Given the description of an element on the screen output the (x, y) to click on. 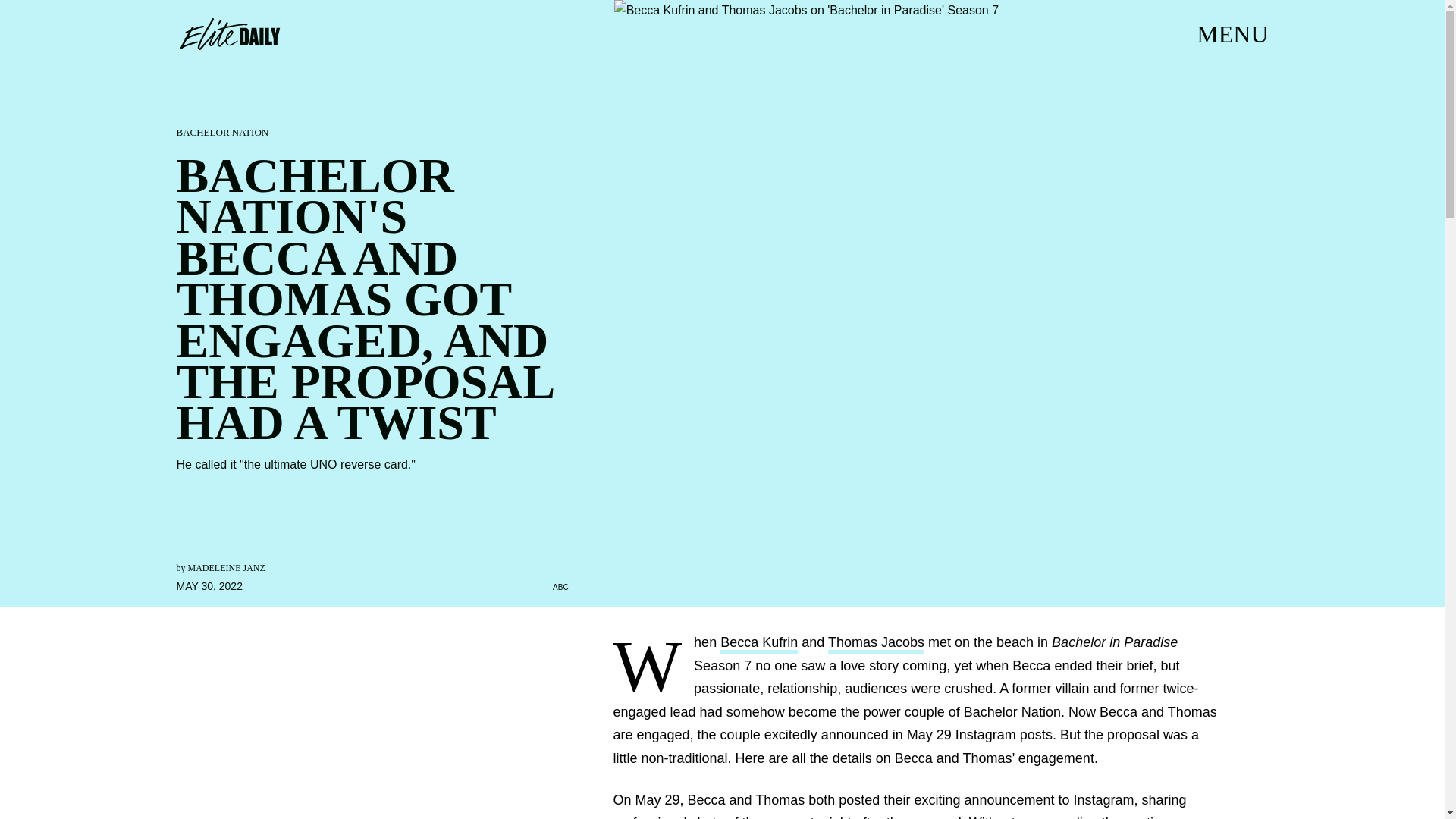
Thomas Jacobs (876, 643)
MADELEINE JANZ (225, 567)
Elite Daily (229, 33)
Becca Kufrin (758, 643)
